Given the description of an element on the screen output the (x, y) to click on. 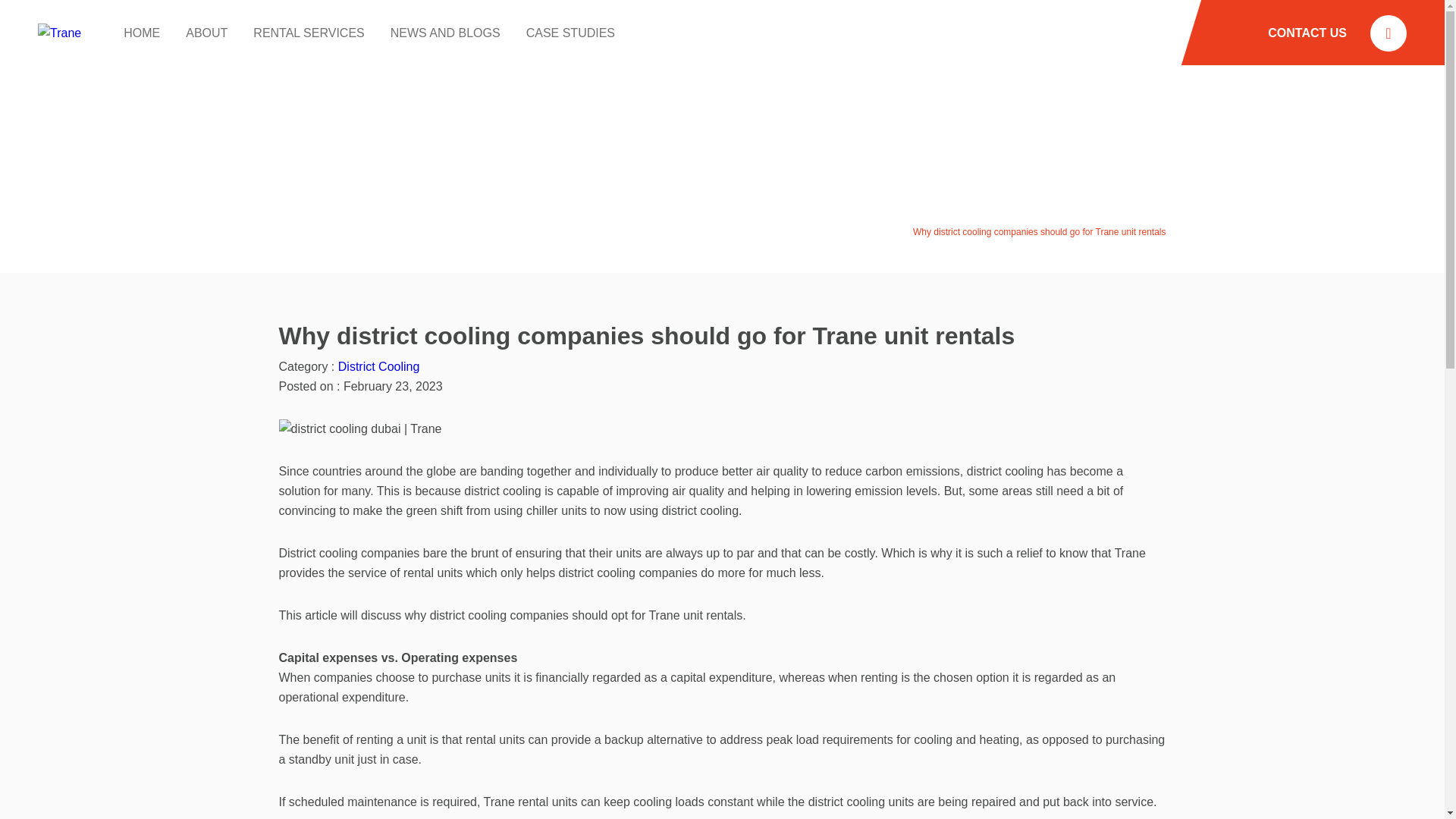
ABOUT (206, 32)
Contact Us (1307, 32)
Home (803, 231)
Trane (59, 33)
Go to Trane. (803, 231)
CASE STUDIES (569, 32)
RENTAL SERVICES (308, 32)
Go to the District Cooling category archives. (863, 231)
HOME (141, 32)
District Cooling (378, 366)
